Given the description of an element on the screen output the (x, y) to click on. 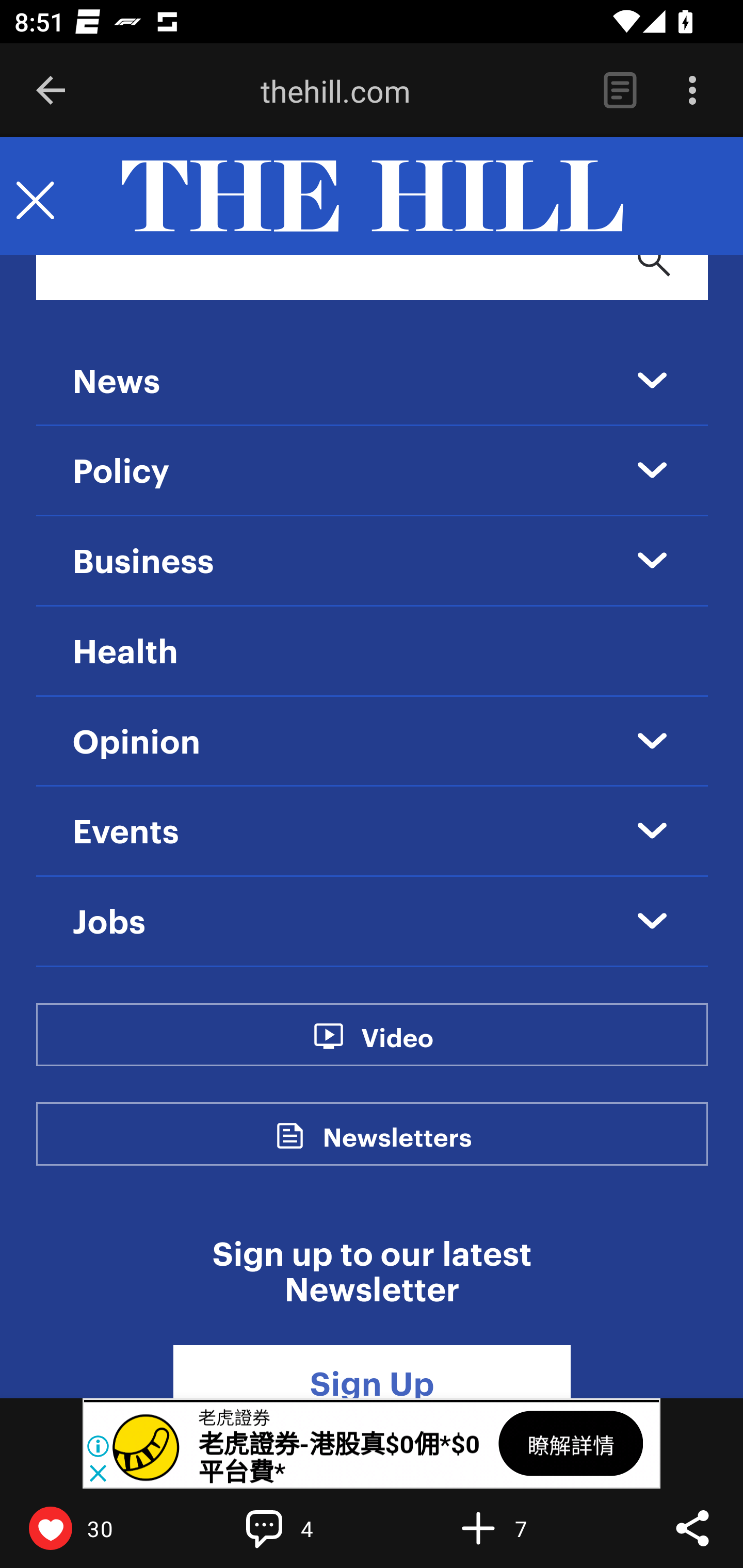
Back (50, 90)
Reader View (619, 90)
Options (692, 90)
Toggle Menu (34, 196)
TheHill.com (371, 196)
News (116, 382)
Policy (121, 472)
Business (143, 562)
Health (125, 651)
Opinion (137, 742)
Events (126, 832)
Jobs (109, 923)
Video (396, 1047)
Newsletters (397, 1147)
Sign Up (371, 1371)
Like 30 (93, 1528)
Write a comment… 4 (307, 1528)
Flip into Magazine 7 (521, 1528)
Share (692, 1528)
